Given the description of an element on the screen output the (x, y) to click on. 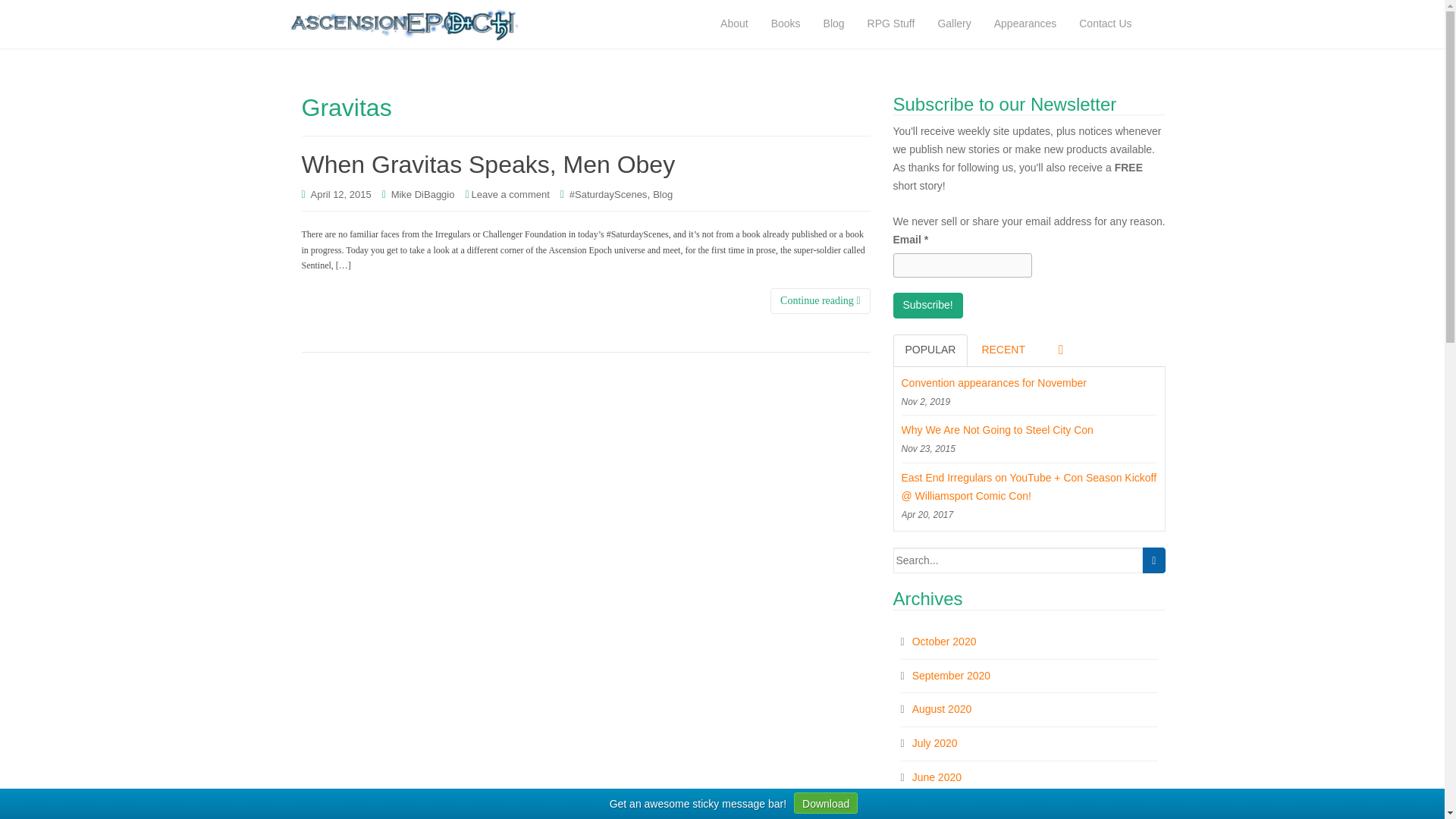
Convention appearances for November (1029, 383)
RPG Stuff (891, 24)
Mike DiBaggio (422, 194)
August 2020 (942, 708)
Blog (834, 24)
Contact Us (1104, 24)
About (734, 24)
May 2020 (935, 811)
October 2020 (944, 641)
Subscribe! (927, 305)
Subscribe! (927, 305)
September 2020 (951, 674)
Leave a comment (510, 194)
July 2020 (935, 743)
Contact Us (1104, 24)
